Given the description of an element on the screen output the (x, y) to click on. 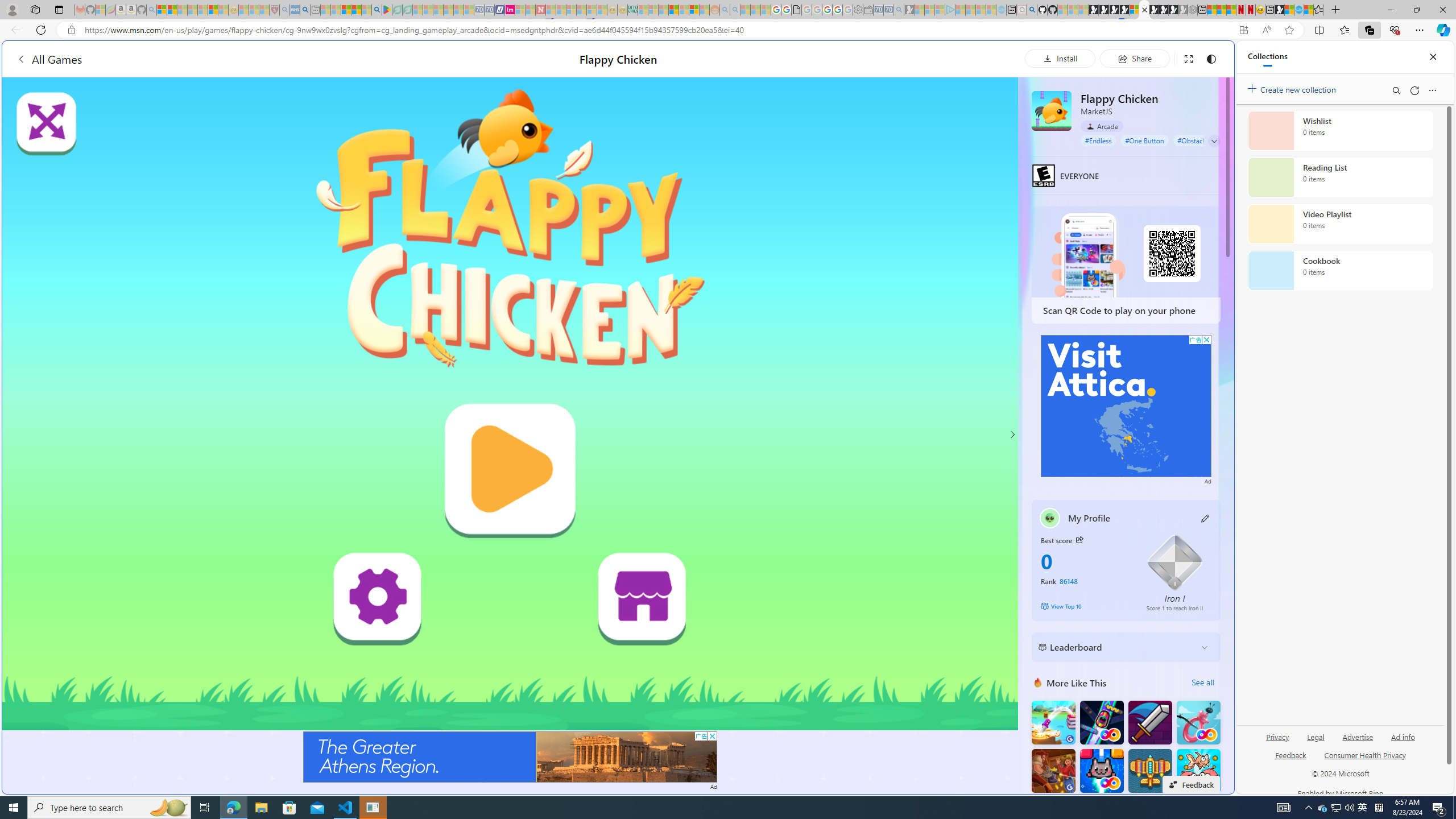
Close split screen (1208, 57)
#Obstacle Course (1203, 140)
Kinda Frugal - MSN - Sleeping (684, 9)
More options menu (1432, 90)
Balloon FRVR (1198, 722)
